Given the description of an element on the screen output the (x, y) to click on. 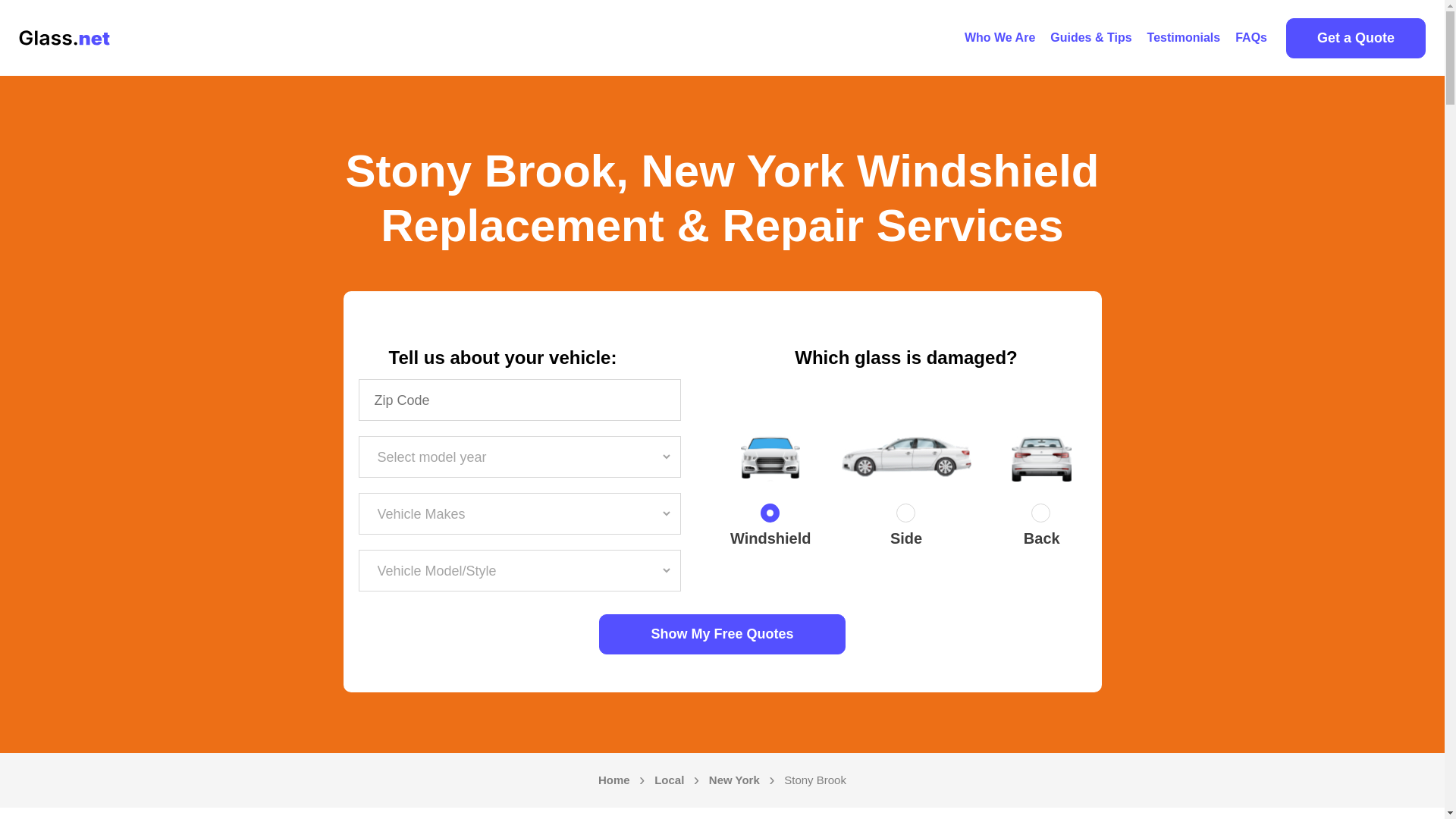
front (770, 516)
Testimonials (1184, 37)
back (1041, 516)
FAQs (1251, 37)
Get a Quote (1355, 38)
How to Choose Auto Glass (1090, 37)
New York (734, 780)
Show My Free Quotes (721, 634)
Home (614, 780)
Testimonials (1184, 37)
